Given the description of an element on the screen output the (x, y) to click on. 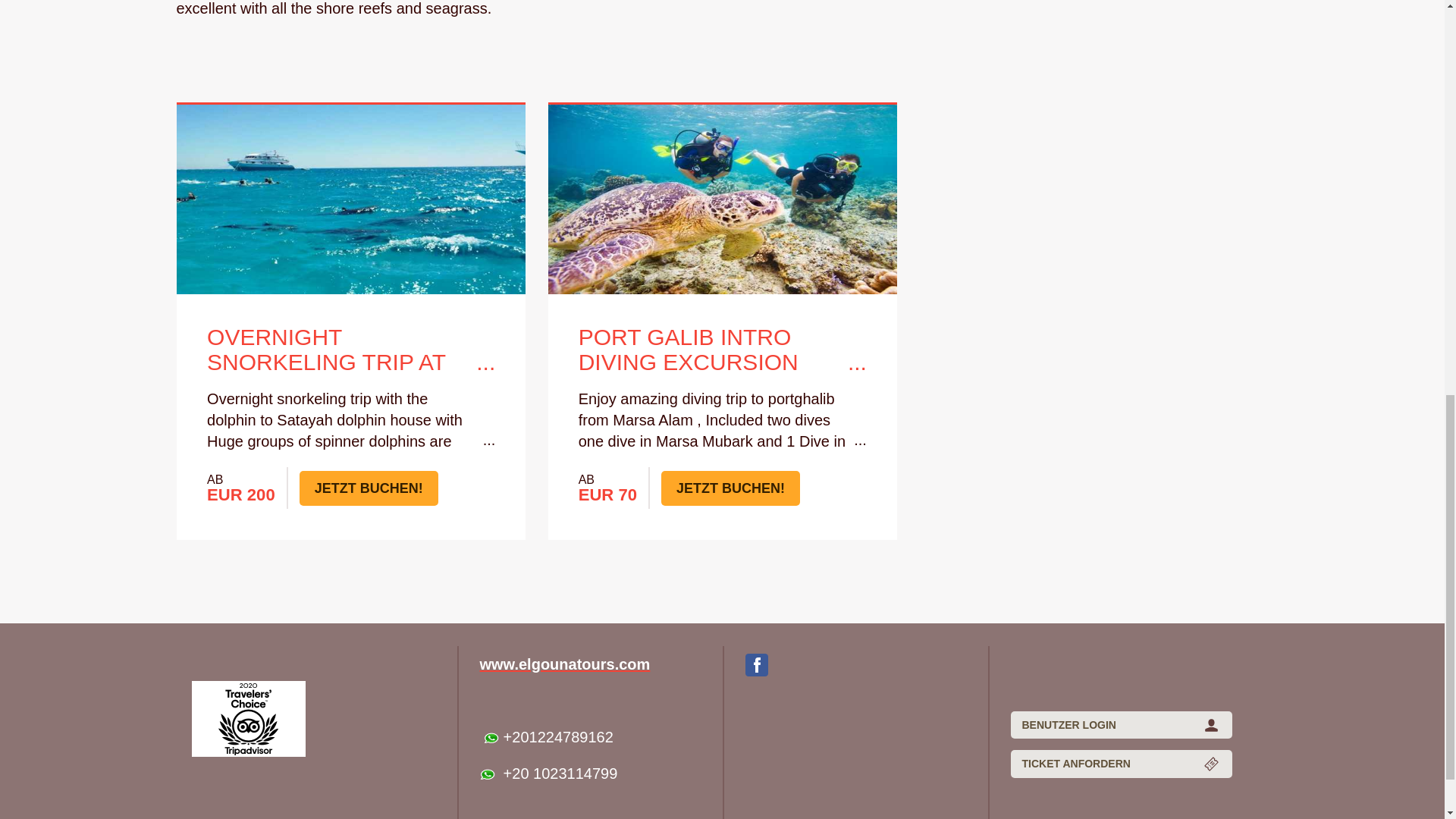
Overnight snorkeling trip at Satayah dolphin reef Marsaalam (350, 350)
Port Galib Intro Diving Excursion From Marsaalam (722, 350)
